Given the description of an element on the screen output the (x, y) to click on. 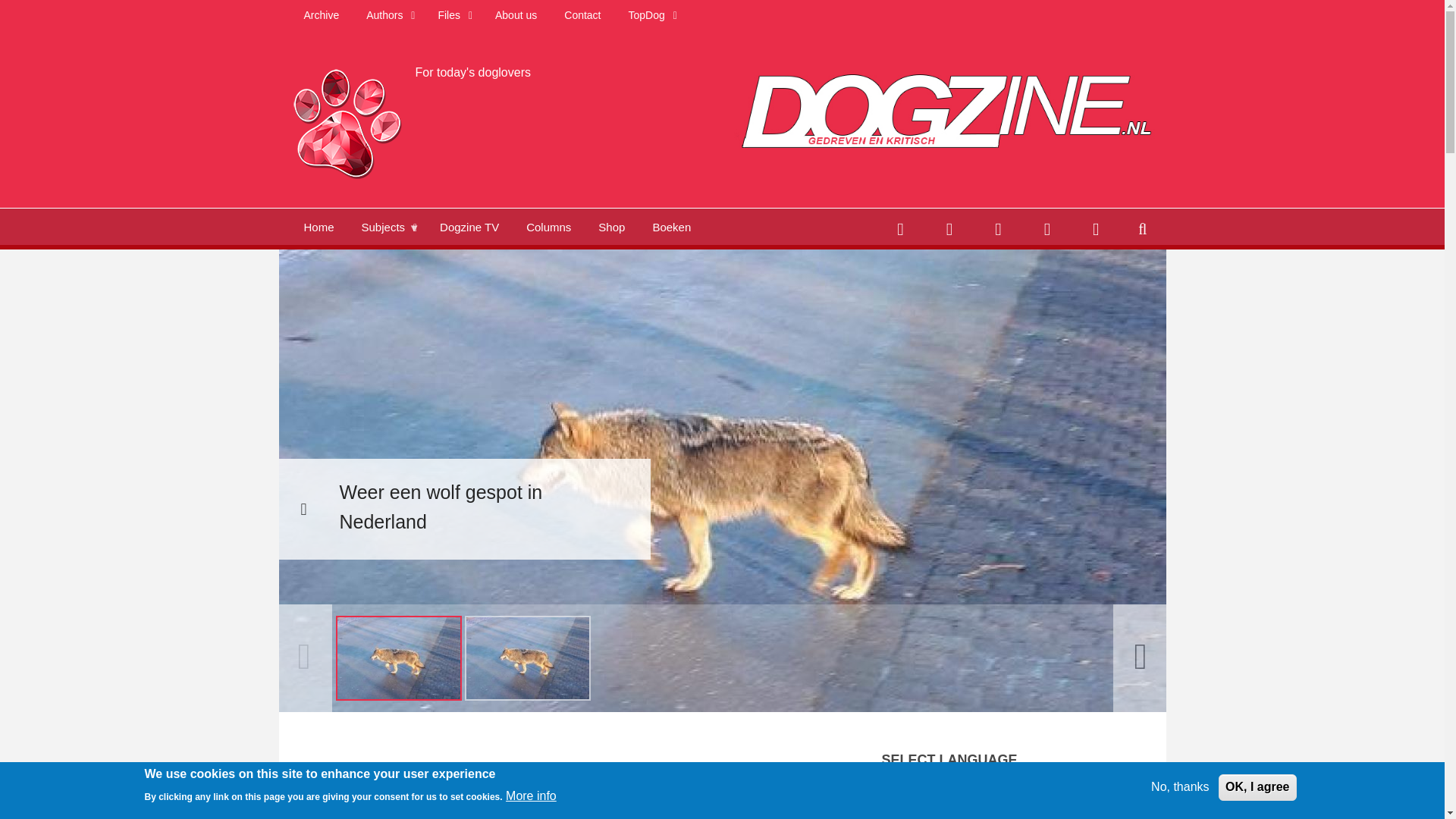
About us (515, 15)
TopDog (649, 15)
Contact (582, 15)
Authors (387, 15)
diervoeding (574, 798)
Home (346, 120)
Archive (320, 15)
Home (318, 226)
Weer een wolf gespot in Nederland (527, 658)
Weer een wolf gespot in Nederland (398, 658)
Files (452, 15)
